Given the description of an element on the screen output the (x, y) to click on. 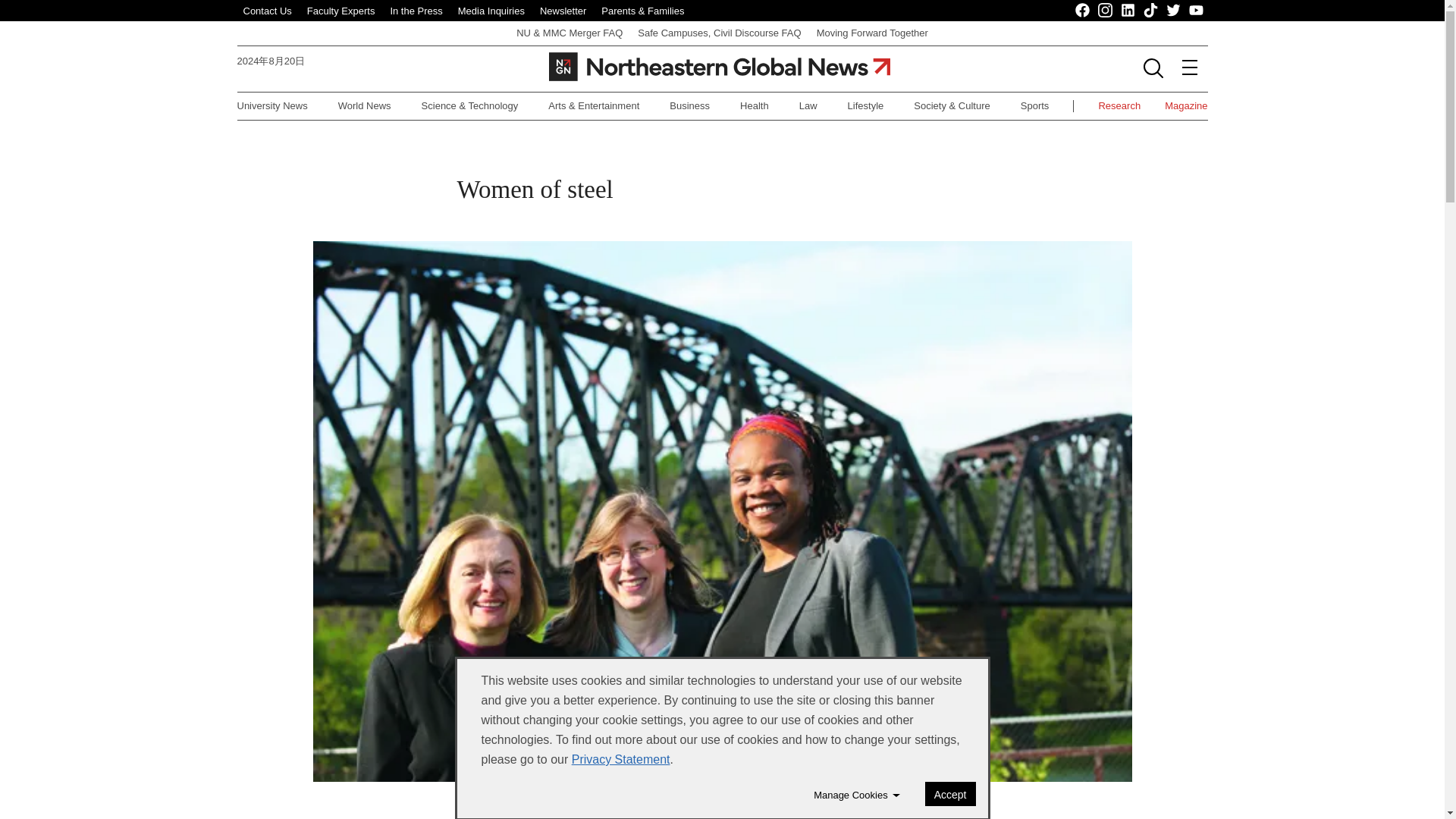
Moving Forward Together (872, 32)
Safe Campuses, Civil Discourse FAQ (718, 32)
Youtube (1196, 10)
Twitter (1173, 10)
Privacy information (620, 758)
Contact Us (267, 10)
Faculty Experts (341, 10)
LinkedIn (1128, 10)
Instagram (1105, 10)
In the Press (416, 10)
